Given the description of an element on the screen output the (x, y) to click on. 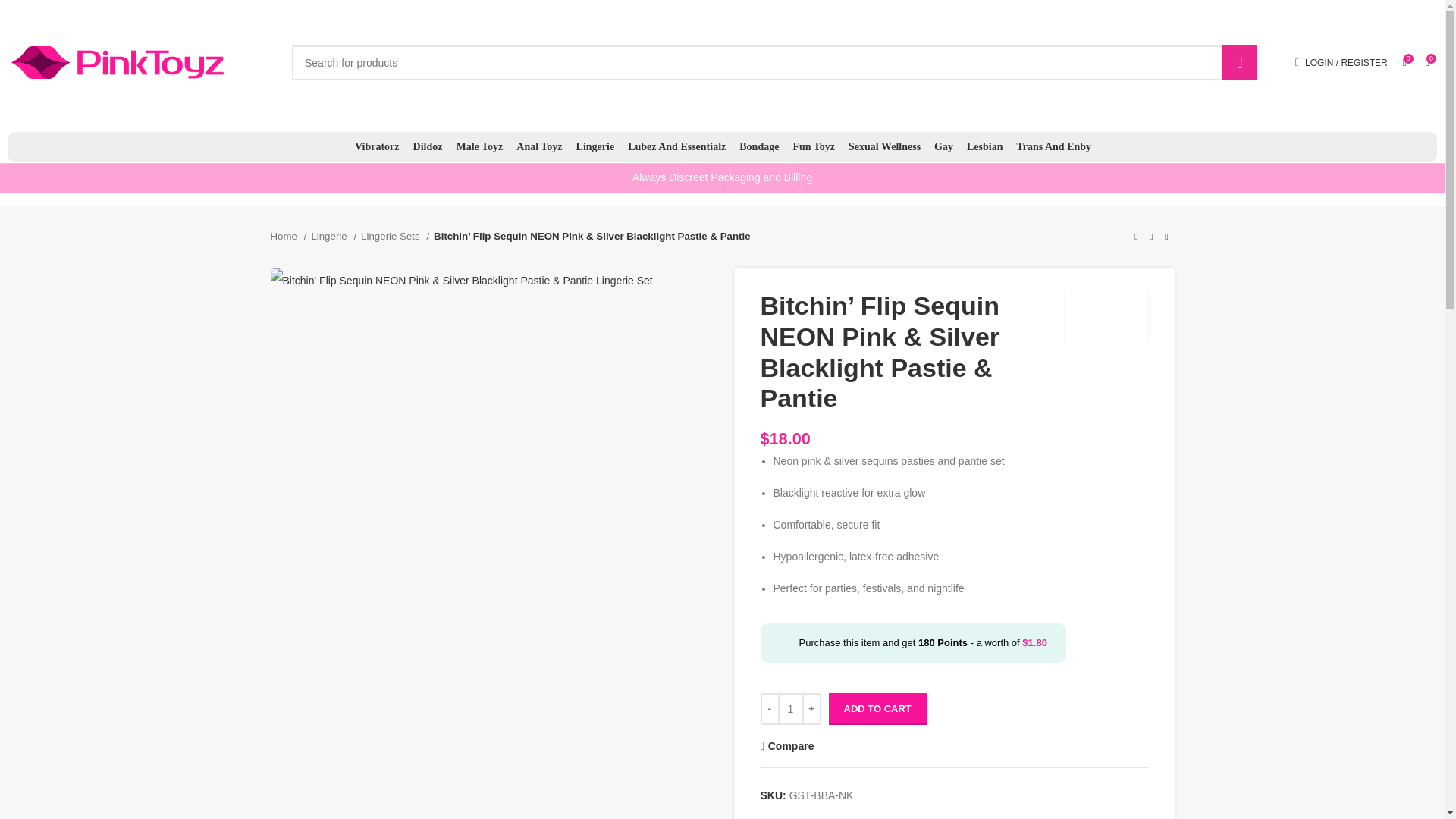
Neva Nude (1105, 316)
My account (1340, 61)
Vibrator (376, 146)
SEARCH (1240, 62)
Search for products (774, 62)
Dildo (427, 146)
